Given the description of an element on the screen output the (x, y) to click on. 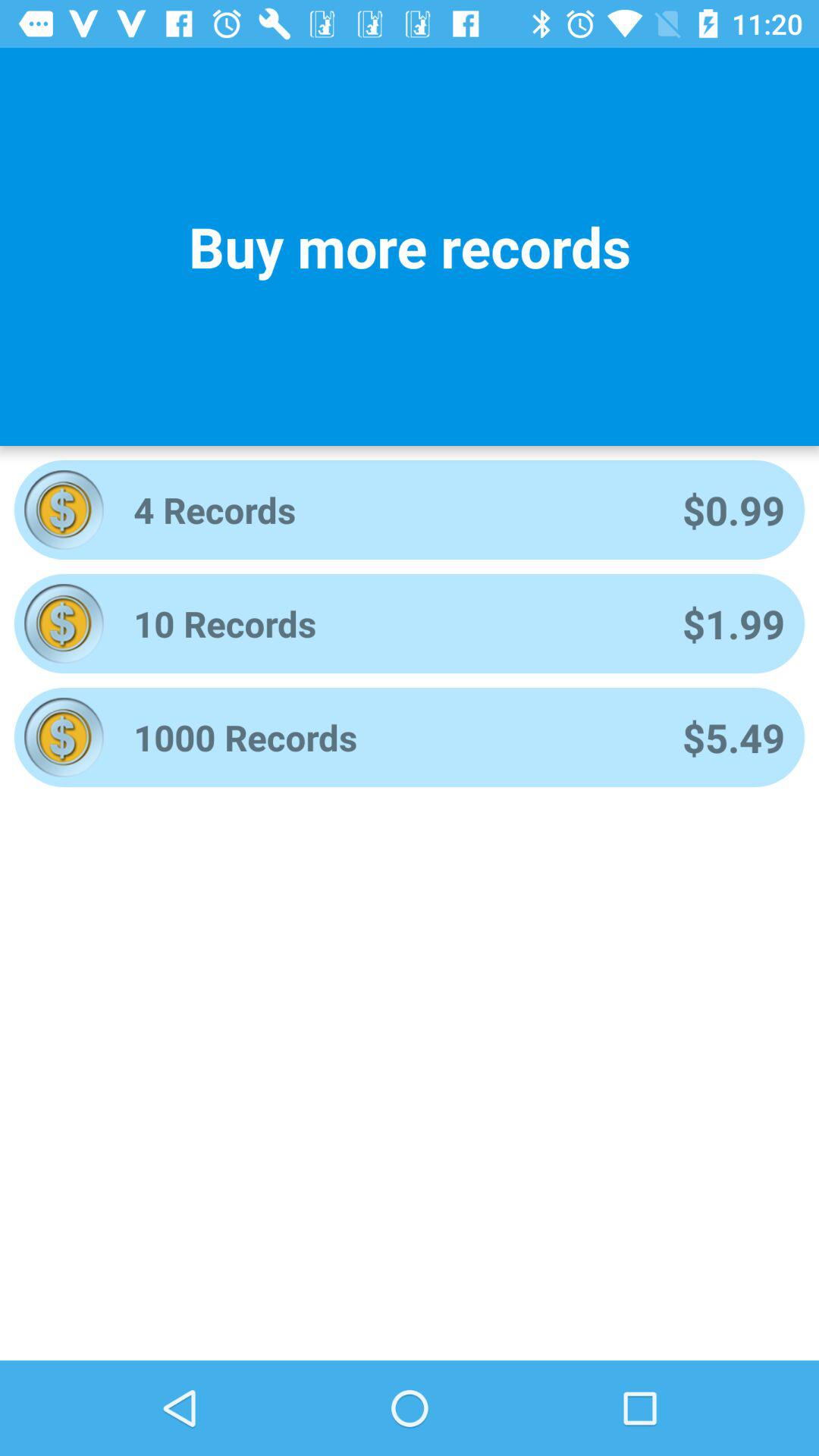
press item below the buy more records app (387, 509)
